Given the description of an element on the screen output the (x, y) to click on. 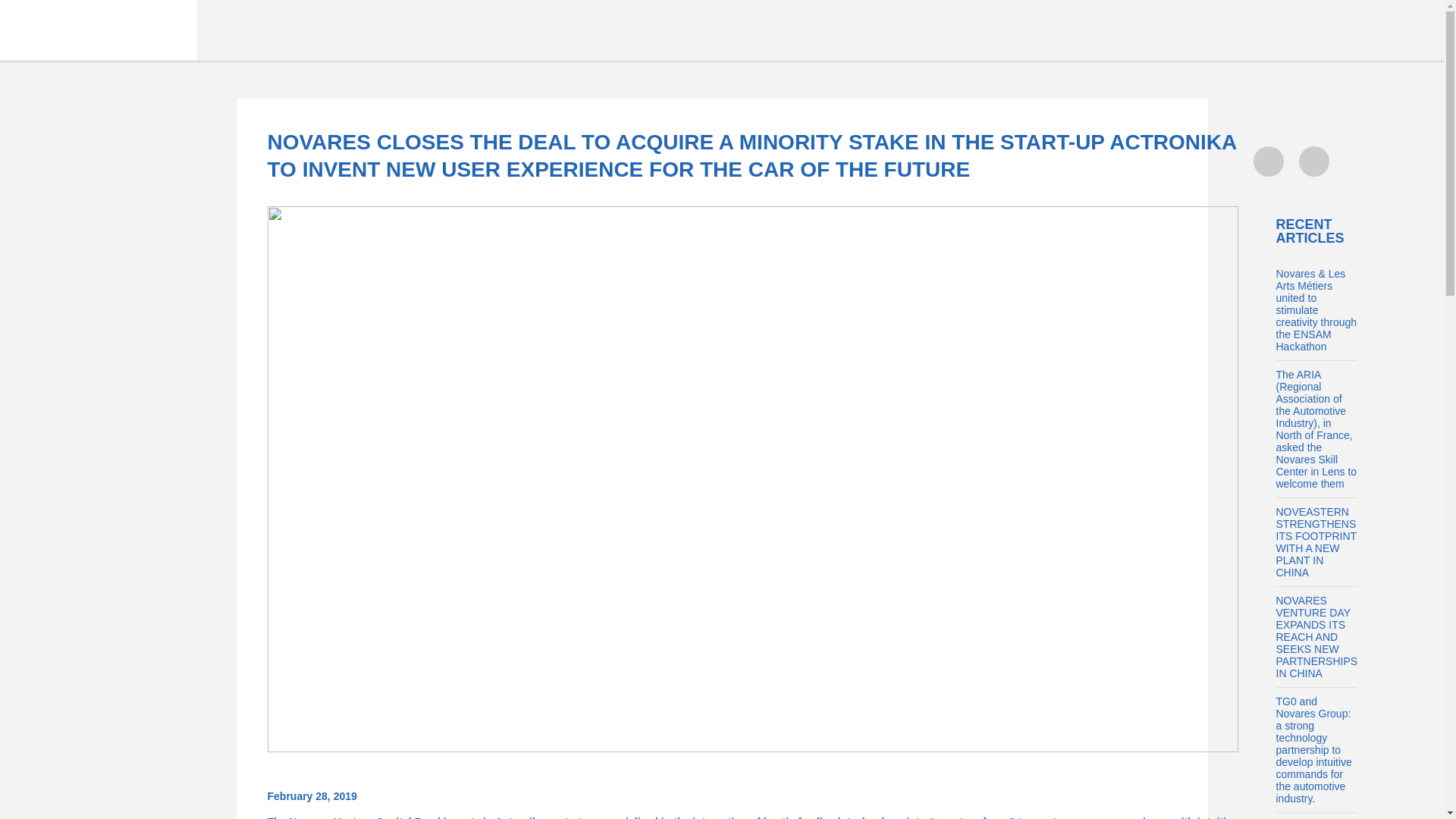
Twitter (1267, 161)
Facebook (1267, 191)
Share on LinkedIn (1312, 161)
Share on Facebook (1267, 191)
LinkedIn (1312, 161)
Share on Twitter (1267, 161)
